Given the description of an element on the screen output the (x, y) to click on. 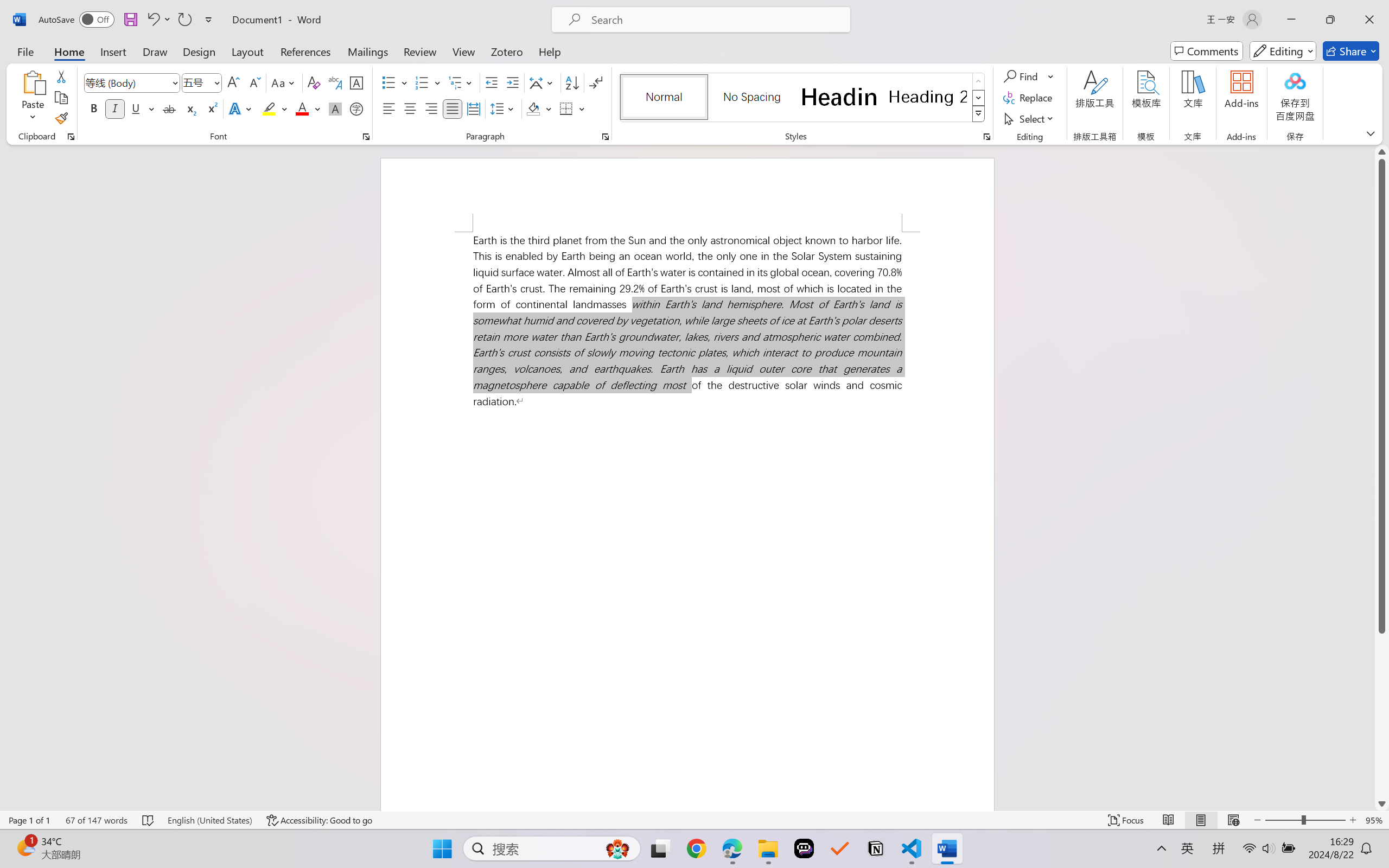
Page 1 content (687, 521)
Class: MsoCommandBar (694, 819)
AutomationID: QuickStylesGallery (802, 97)
Text Effects and Typography (241, 108)
Page down (1382, 714)
